Given the description of an element on the screen output the (x, y) to click on. 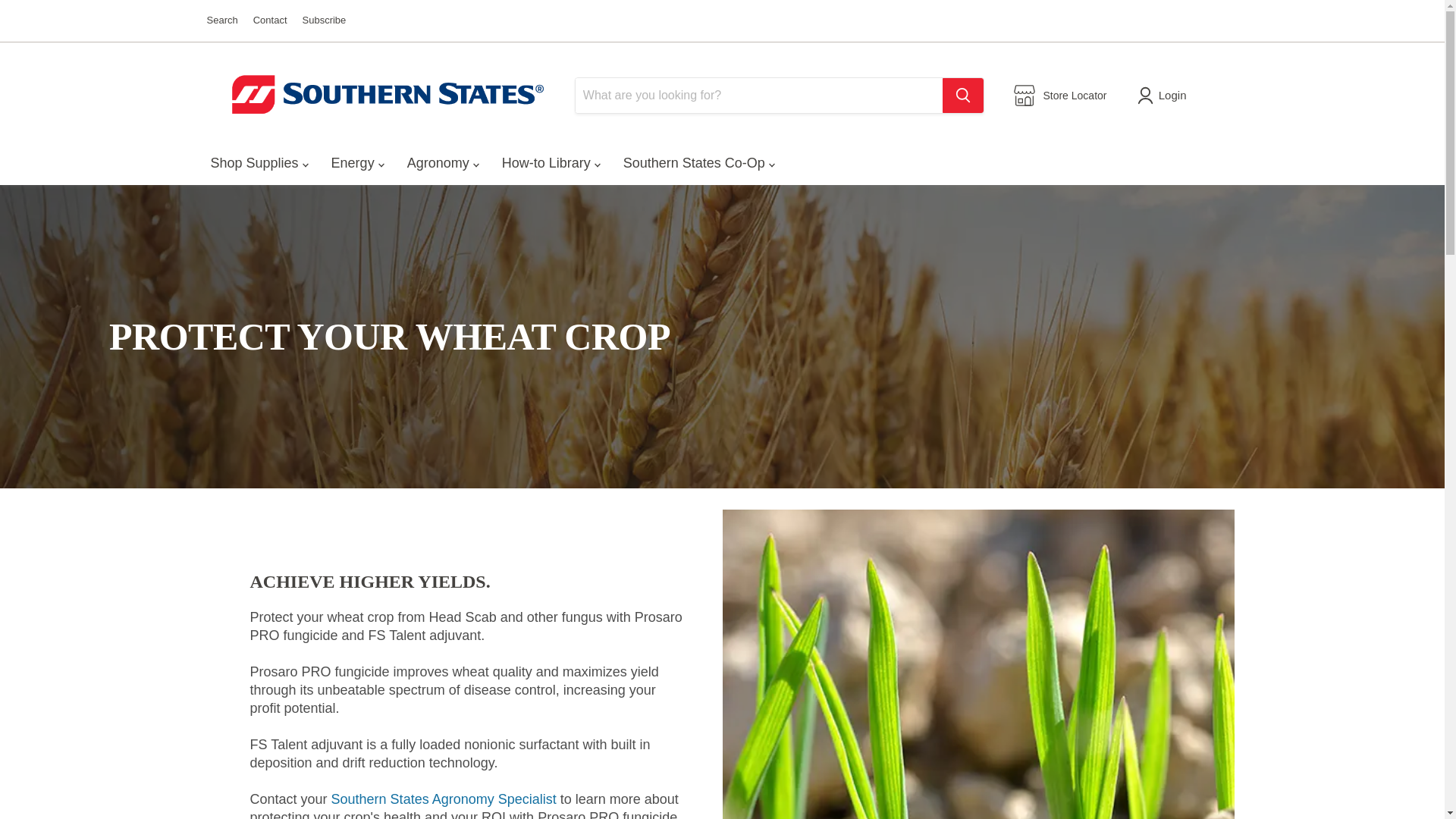
Store Locator (1059, 95)
Subscribe (324, 20)
Search (221, 20)
Login (1164, 95)
Meet Our Team (443, 798)
Contact (269, 20)
